Given the description of an element on the screen output the (x, y) to click on. 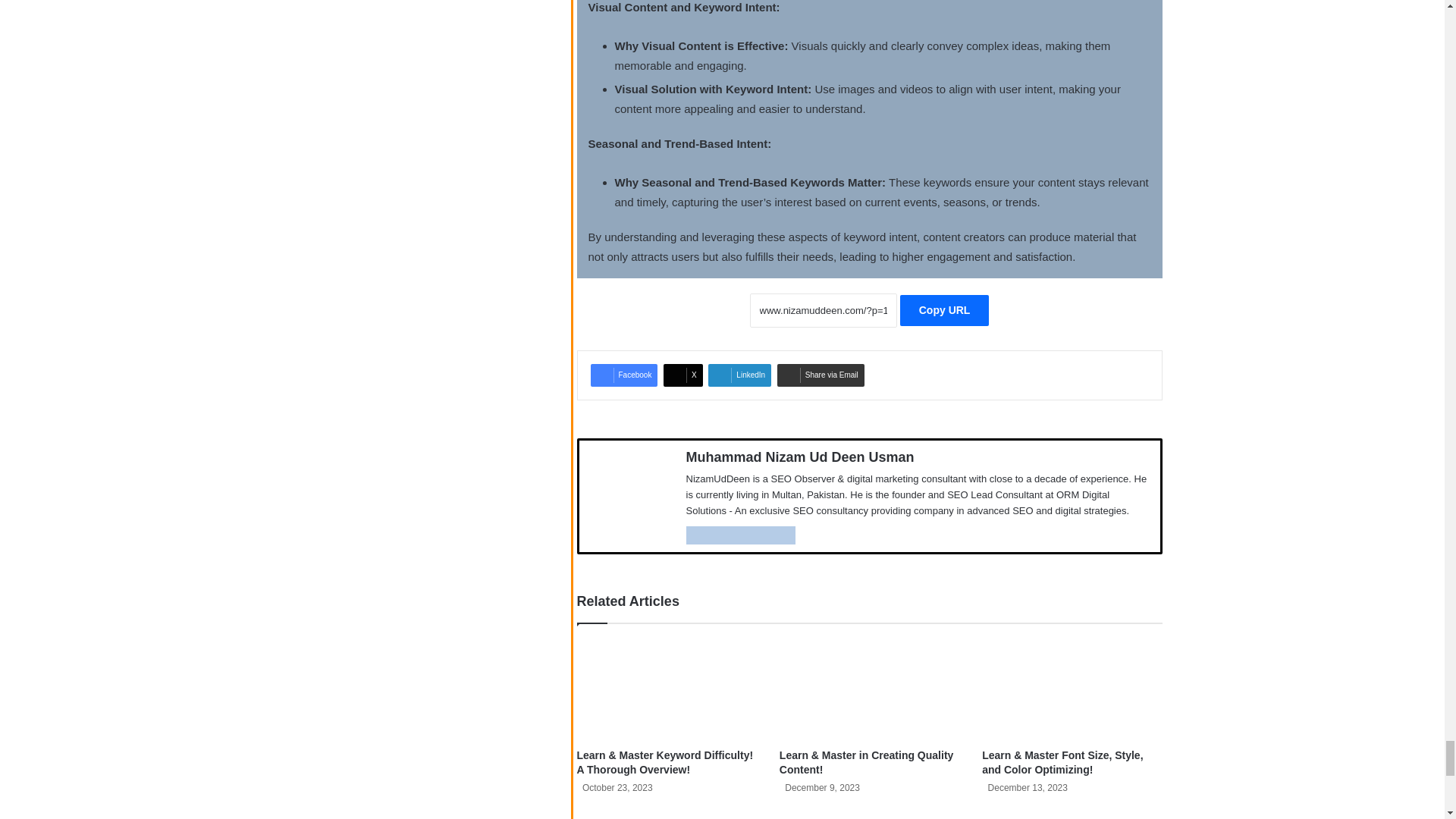
Facebook (623, 374)
X (683, 374)
Copy URL (944, 309)
LinkedIn (739, 374)
Share via Email (820, 374)
